Given the description of an element on the screen output the (x, y) to click on. 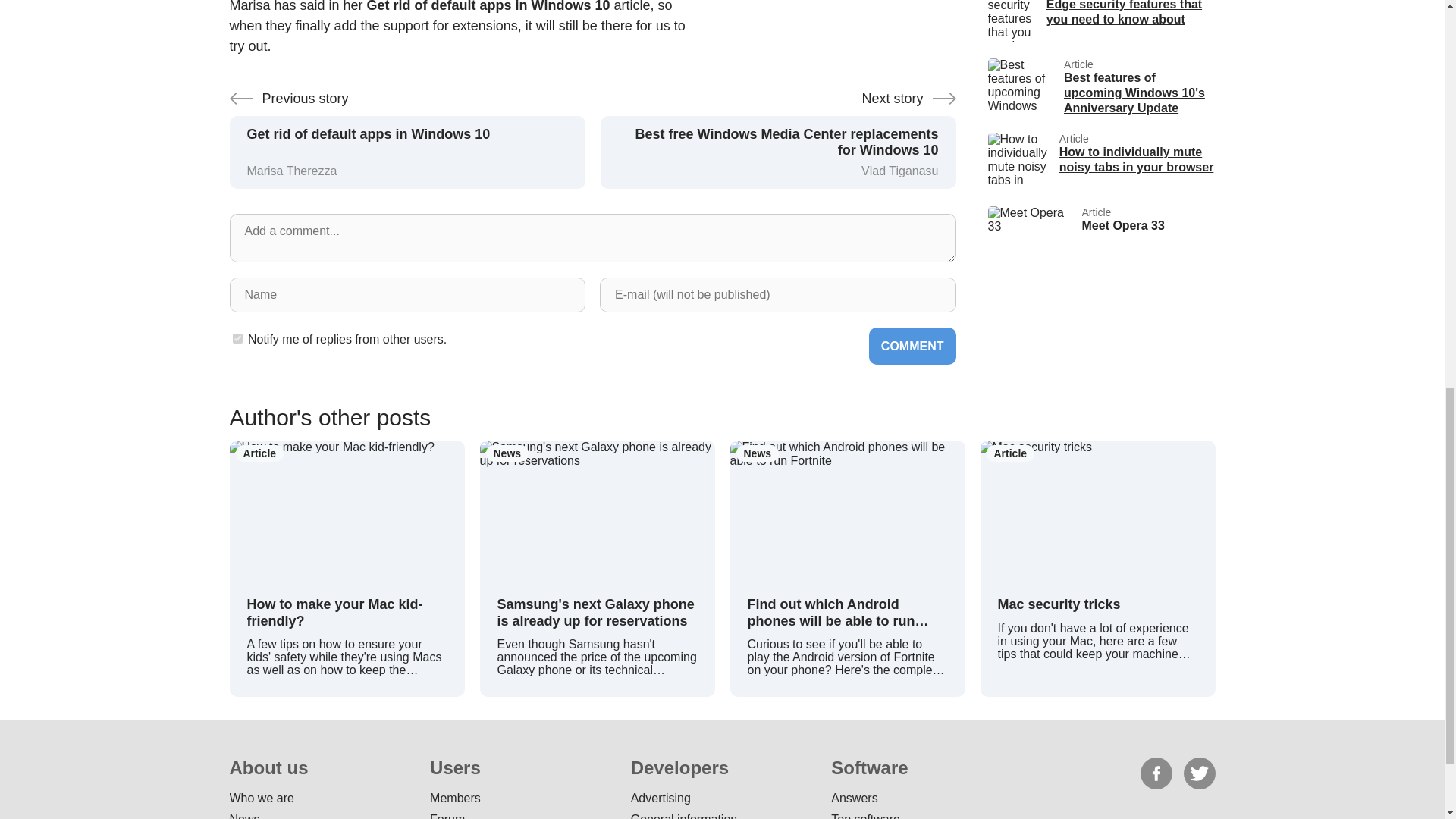
1 (1100, 160)
Get rid of default apps in Windows 10 (236, 338)
Comment (1100, 234)
Comment (488, 6)
